Given the description of an element on the screen output the (x, y) to click on. 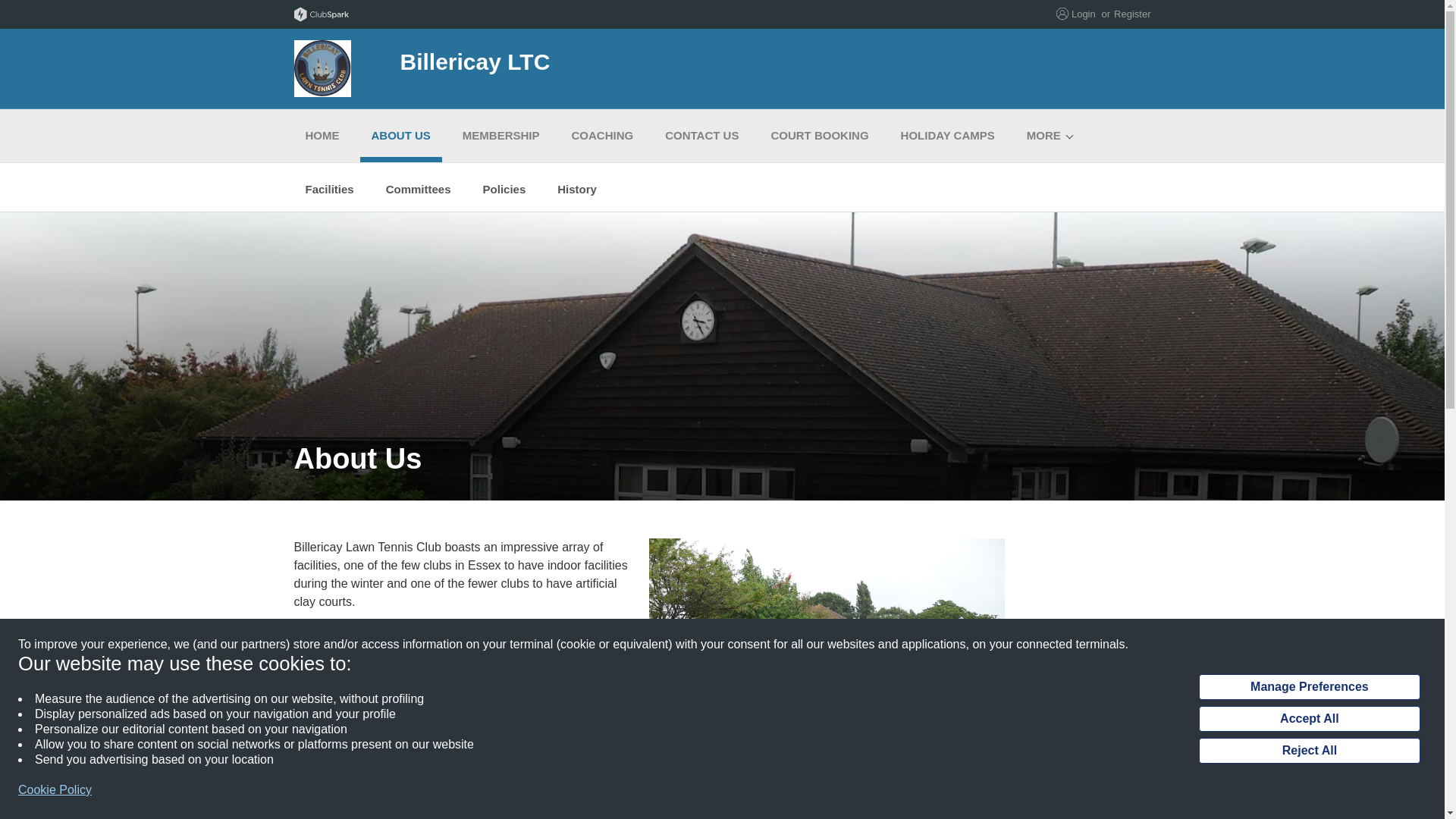
Register (1131, 13)
HOME (322, 135)
Accept All (1309, 718)
ClubSpark (508, 14)
CONTACT US (701, 135)
Cookie Policy (54, 789)
Reject All (1309, 750)
MEMBERSHIP (501, 135)
COURT BOOKING (818, 135)
Login (1083, 13)
COACHING (602, 135)
Billericay LTC (593, 68)
MORE (1042, 135)
Manage Preferences (1309, 687)
HOLIDAY CAMPS (947, 135)
